Given the description of an element on the screen output the (x, y) to click on. 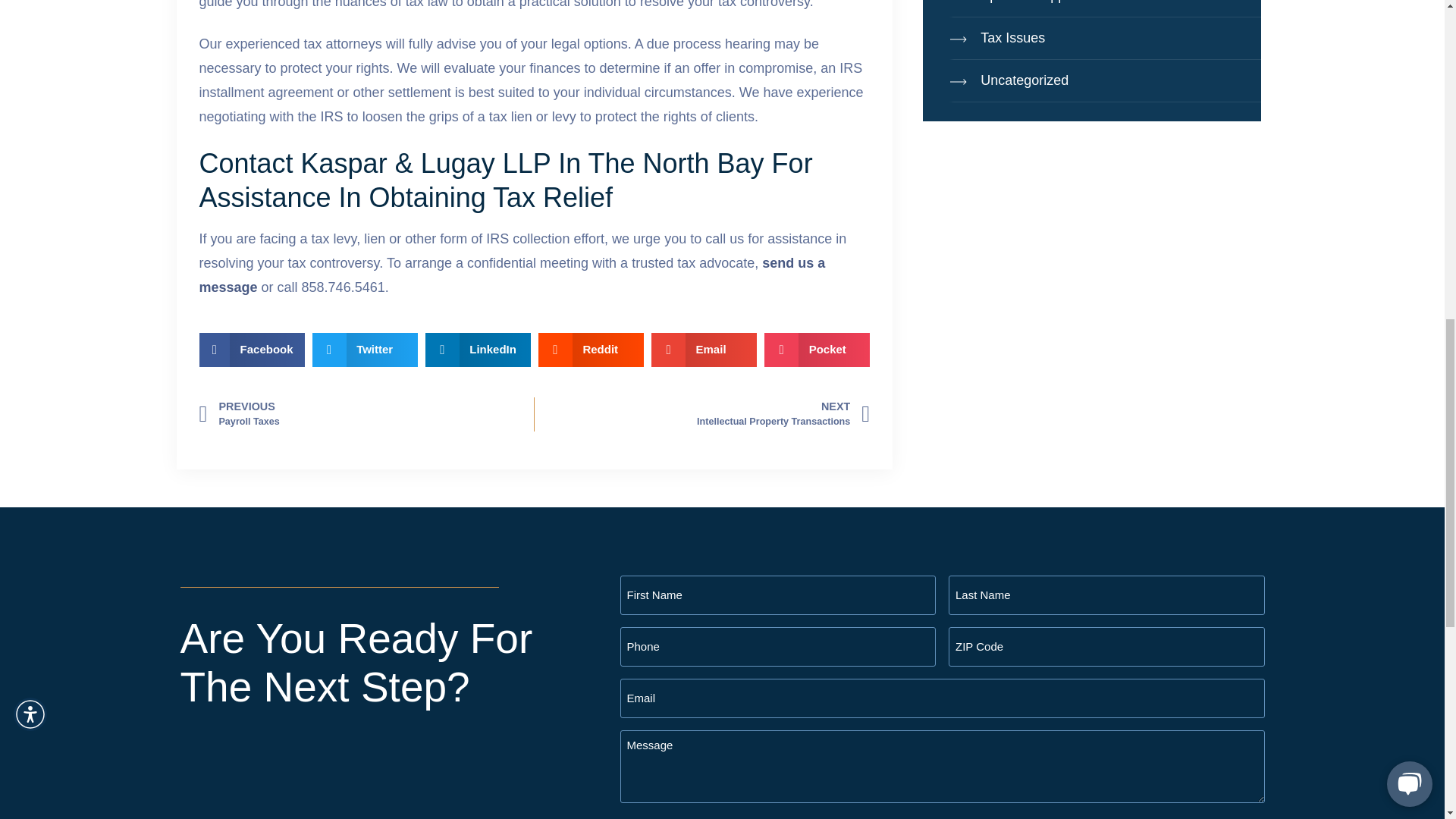
Spousal Support (1104, 8)
send us a message (511, 274)
